Given the description of an element on the screen output the (x, y) to click on. 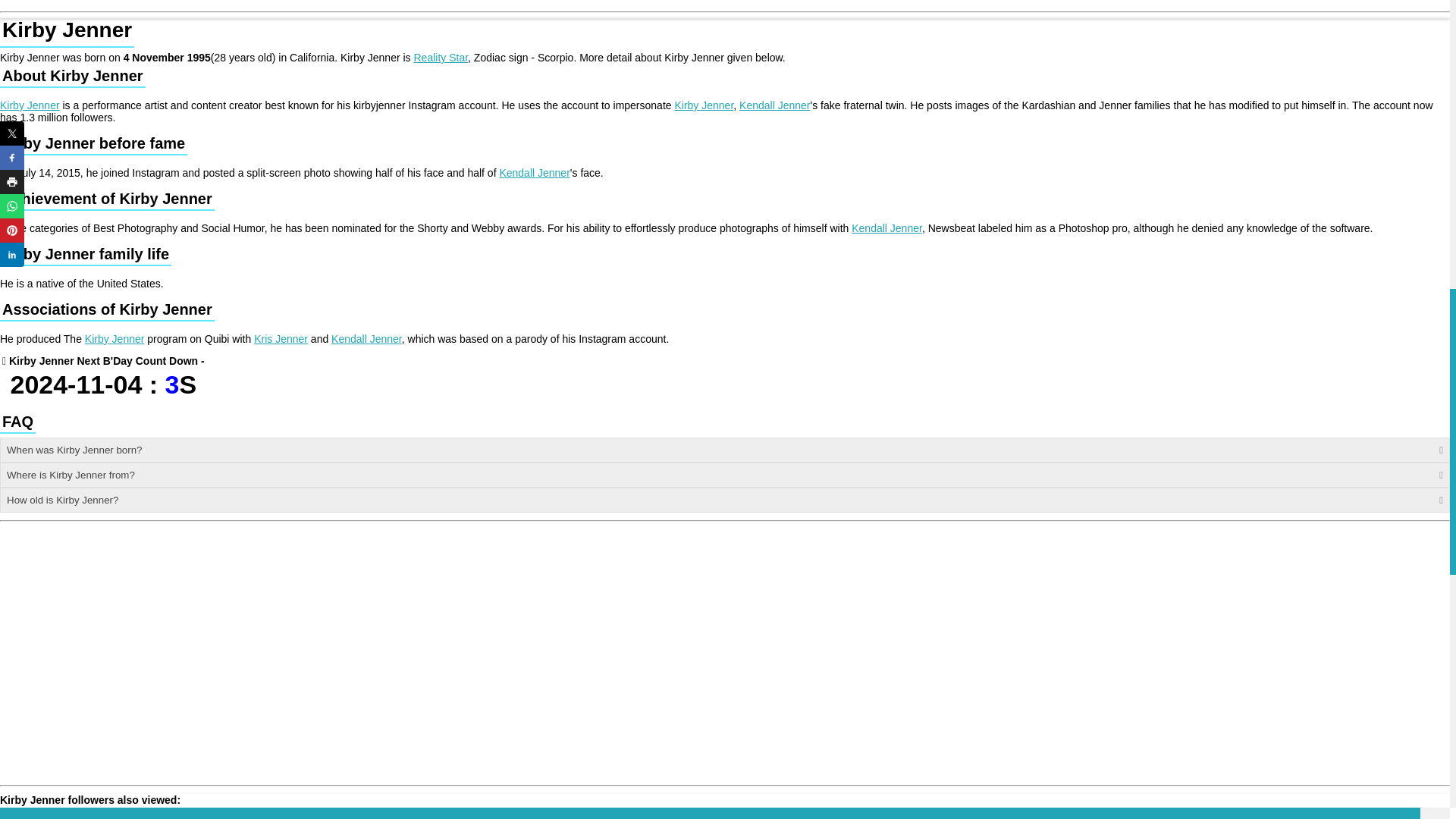
Kendall Jenner (886, 227)
Kris Jenner (280, 338)
When was Kirby Jenner born? (725, 449)
How old is Kirby Jenner? (725, 499)
Kirby Jenner (114, 338)
Kirby Jenner (703, 105)
Kendall Jenner (366, 338)
Where is Kirby Jenner from? (534, 173)
Reality Star (725, 474)
Kendall Jenner (440, 57)
Kirby Jenner (774, 105)
